Given the description of an element on the screen output the (x, y) to click on. 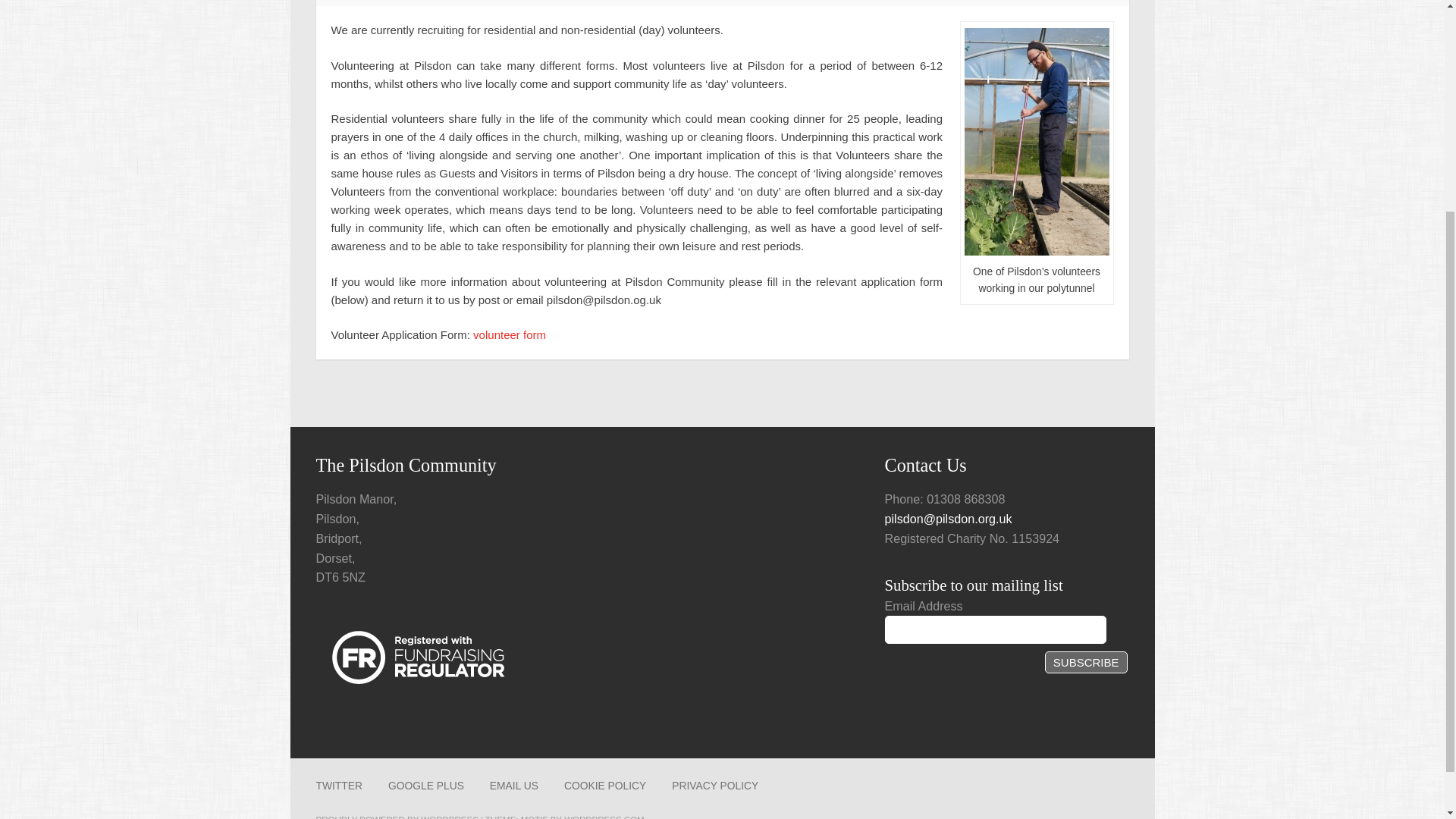
PRIVACY POLICY (714, 785)
Google Plus (426, 785)
COOKIE POLICY (605, 785)
Subscribe (1085, 662)
TWITTER (338, 785)
volunteer form (509, 334)
EMAIL US (513, 785)
Twitter (338, 785)
Email Us (513, 785)
Subscribe (1085, 662)
GOOGLE PLUS (426, 785)
Privacy Policy (714, 785)
Cookie Policy (605, 785)
Registered with The Fundraising Regulator (417, 657)
